Given the description of an element on the screen output the (x, y) to click on. 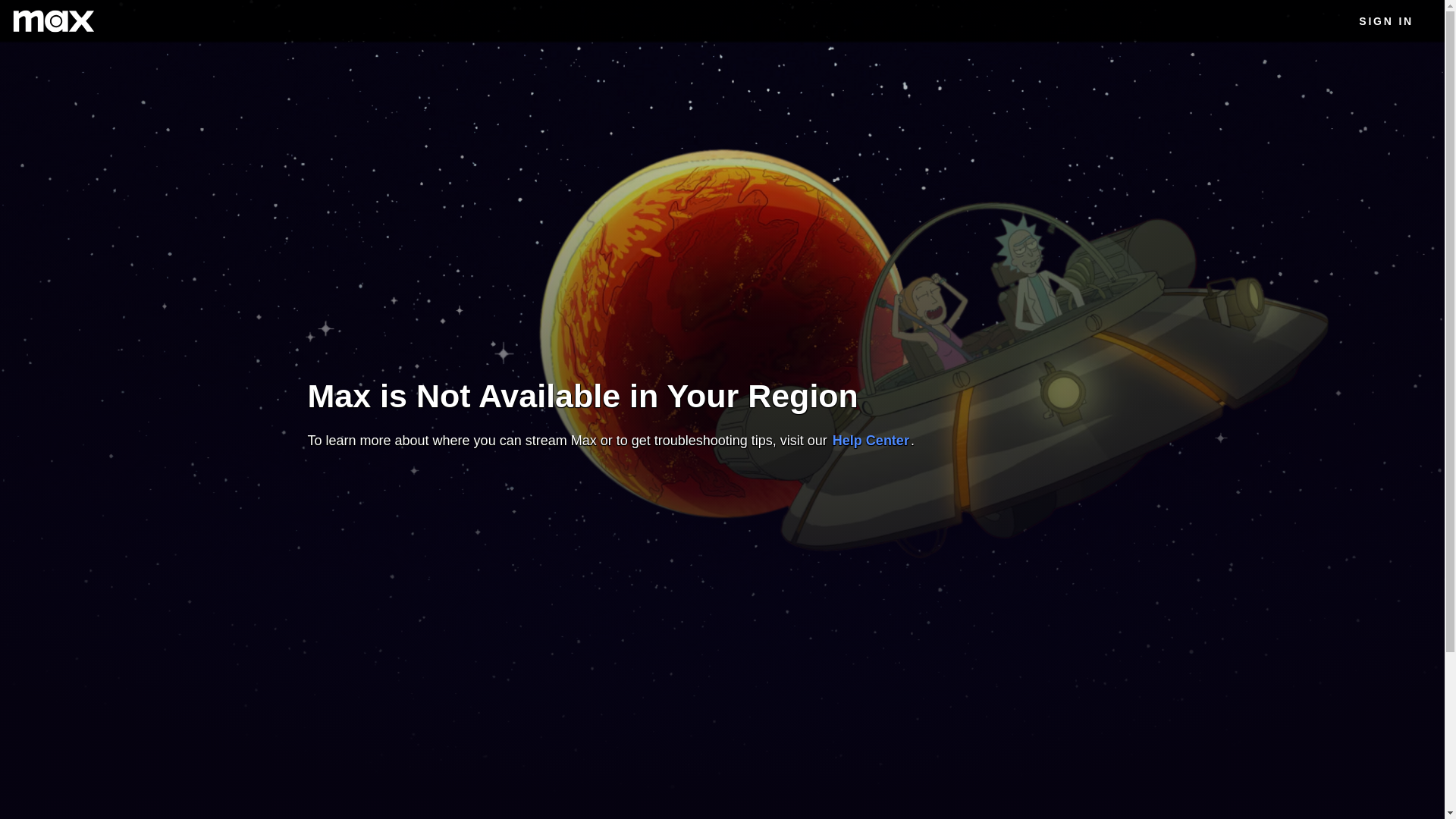
Help Center (871, 440)
SIGN IN (1385, 21)
